Given the description of an element on the screen output the (x, y) to click on. 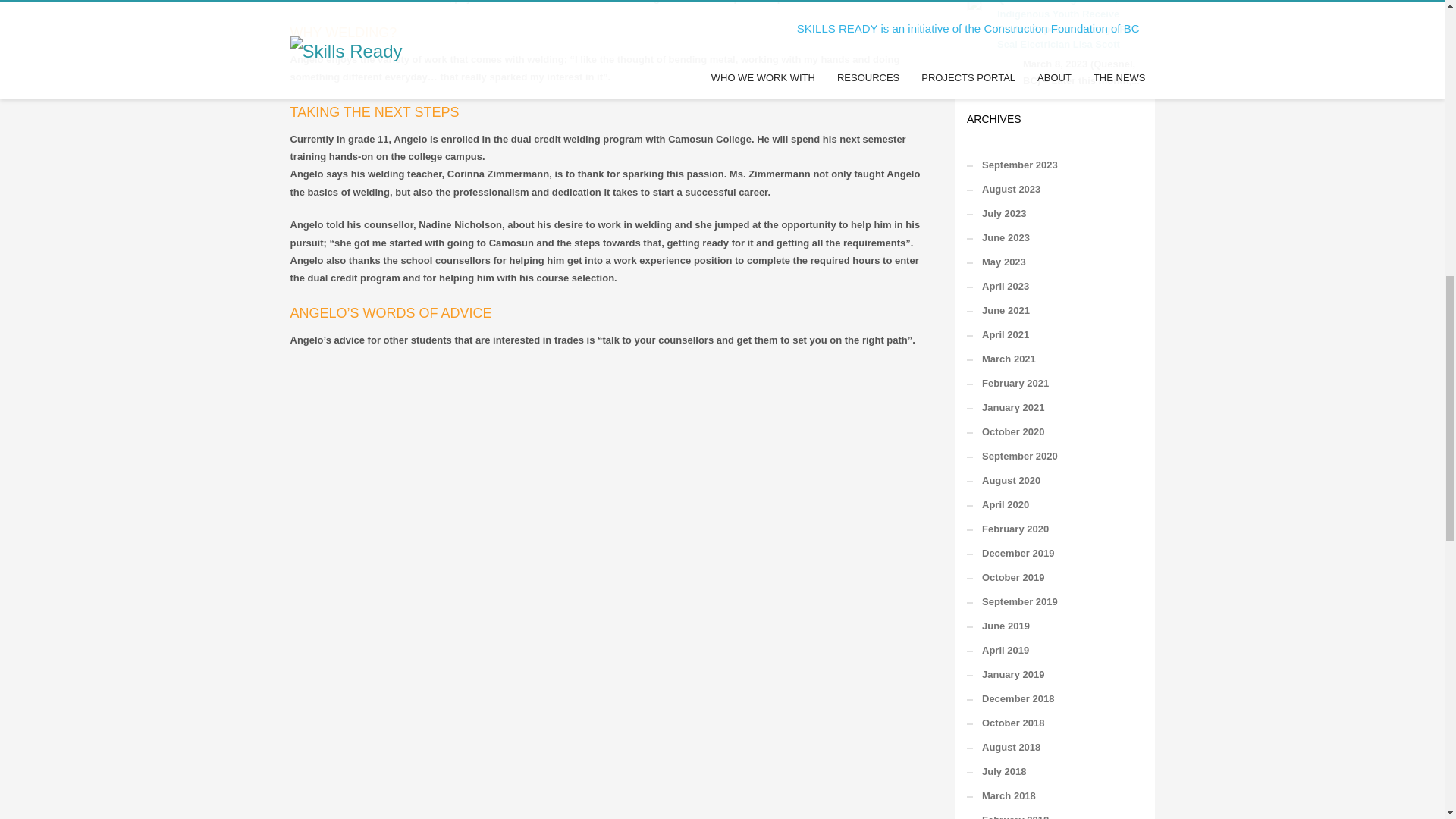
June 2023 (1054, 238)
August 2023 (1054, 189)
July 2023 (1054, 213)
September 2023 (1054, 165)
